Given the description of an element on the screen output the (x, y) to click on. 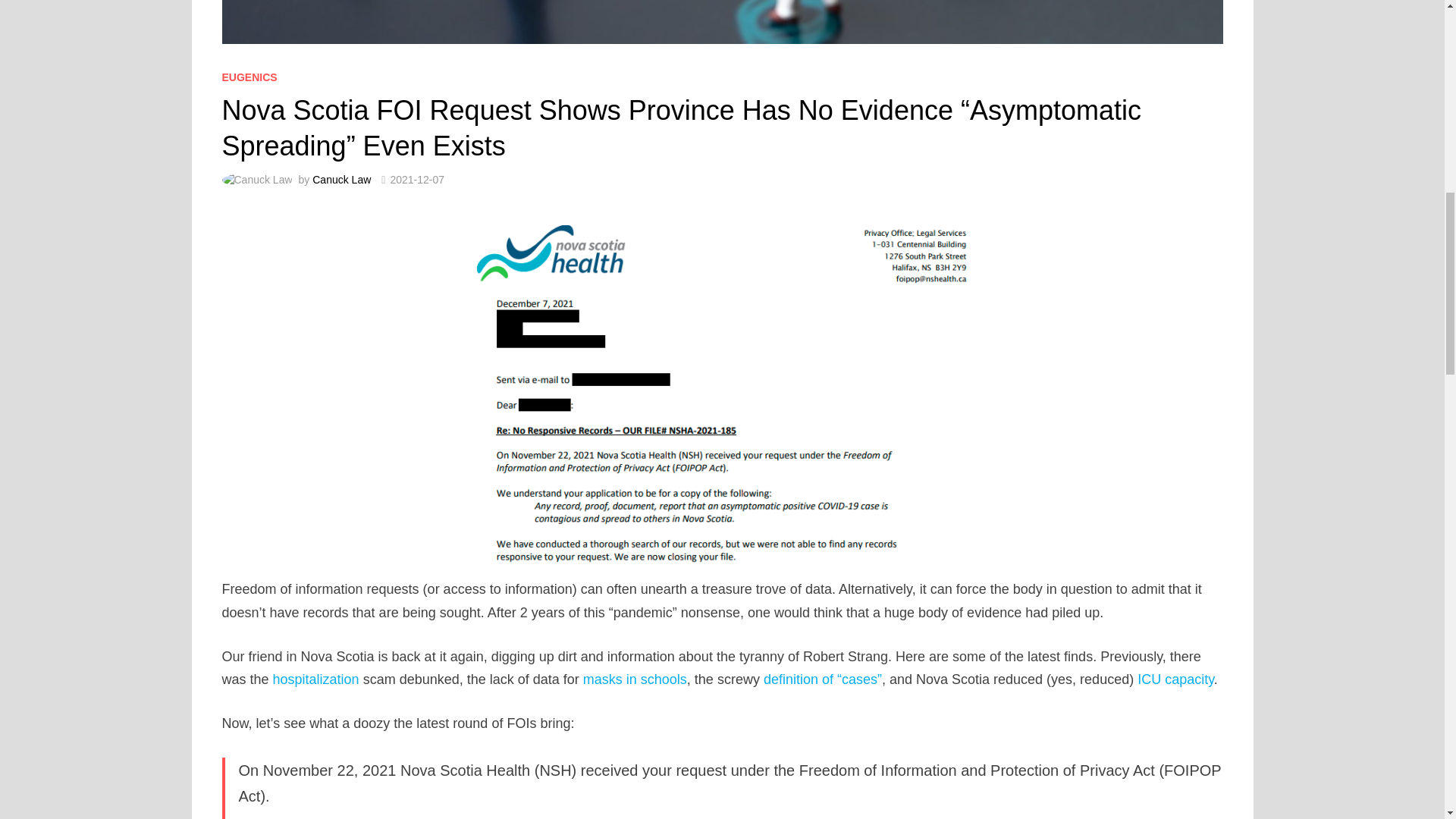
2021-12-07 (417, 179)
masks in schools (635, 679)
hospitalization (316, 679)
Canuck Law (342, 179)
EUGENICS (248, 77)
